Given the description of an element on the screen output the (x, y) to click on. 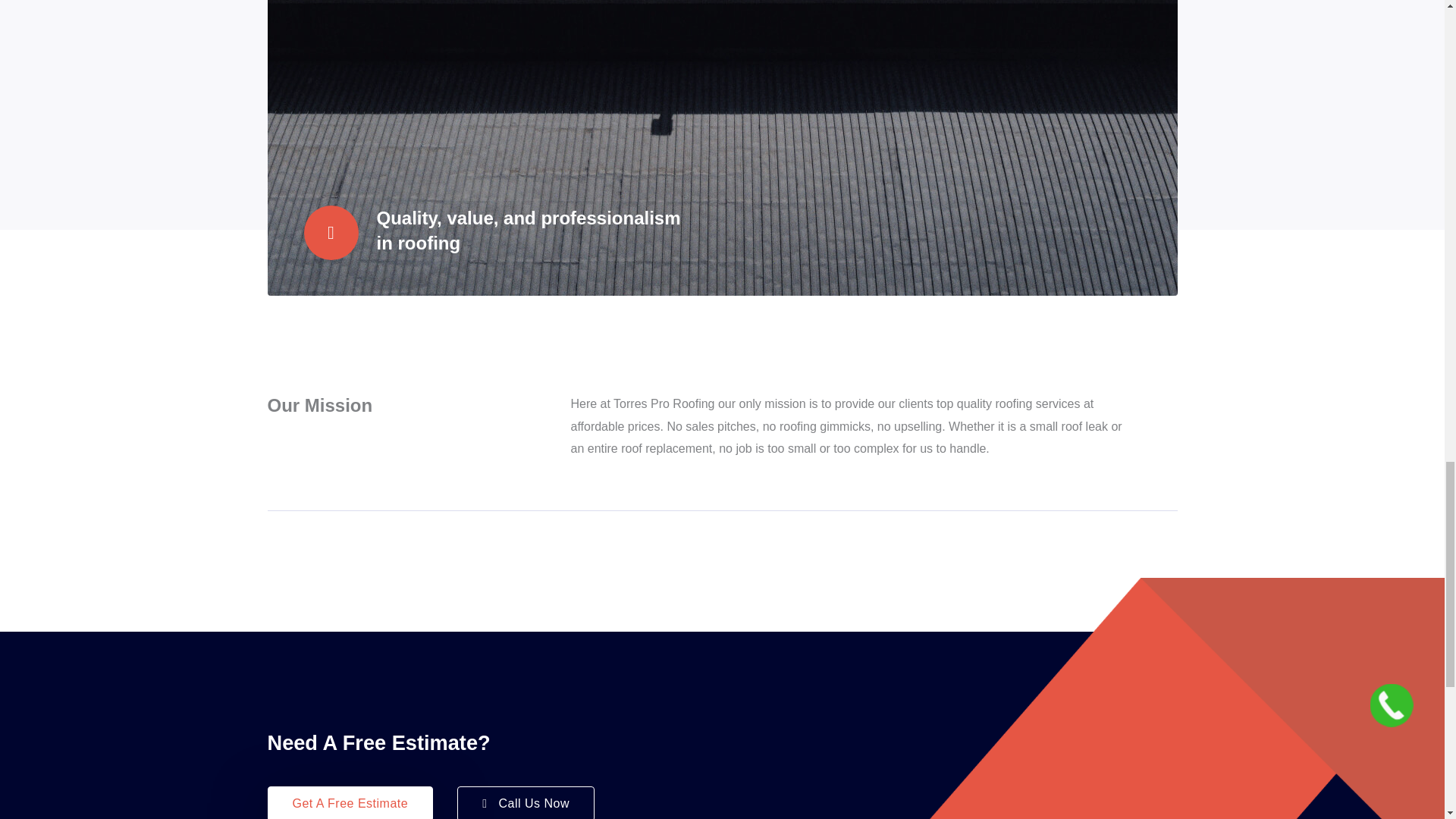
Get A Free Estimate (349, 802)
Call Us Now (525, 802)
Quality, value, and professionalism in roofing (527, 230)
